Given the description of an element on the screen output the (x, y) to click on. 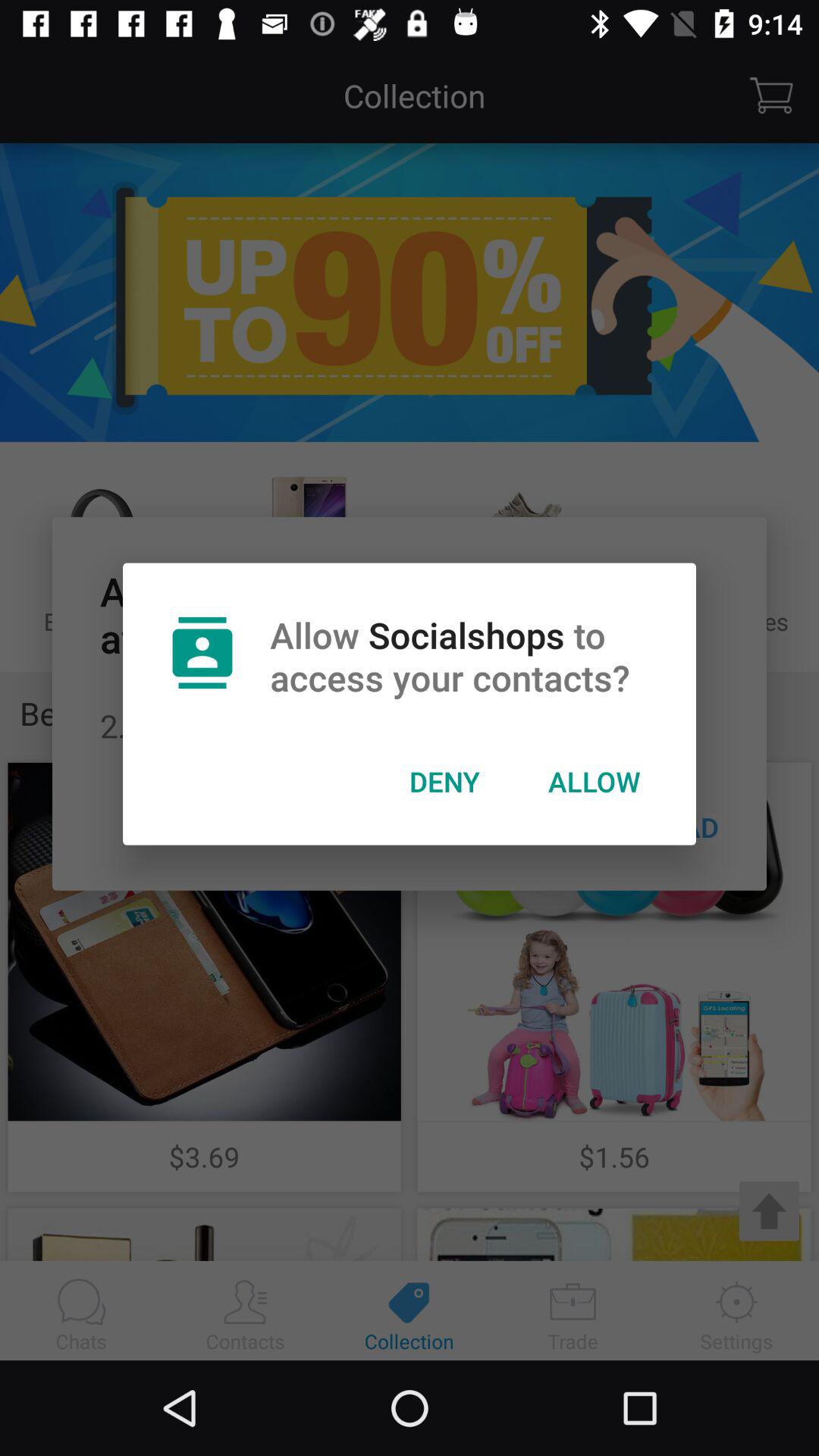
turn off icon next to allow (444, 781)
